Given the description of an element on the screen output the (x, y) to click on. 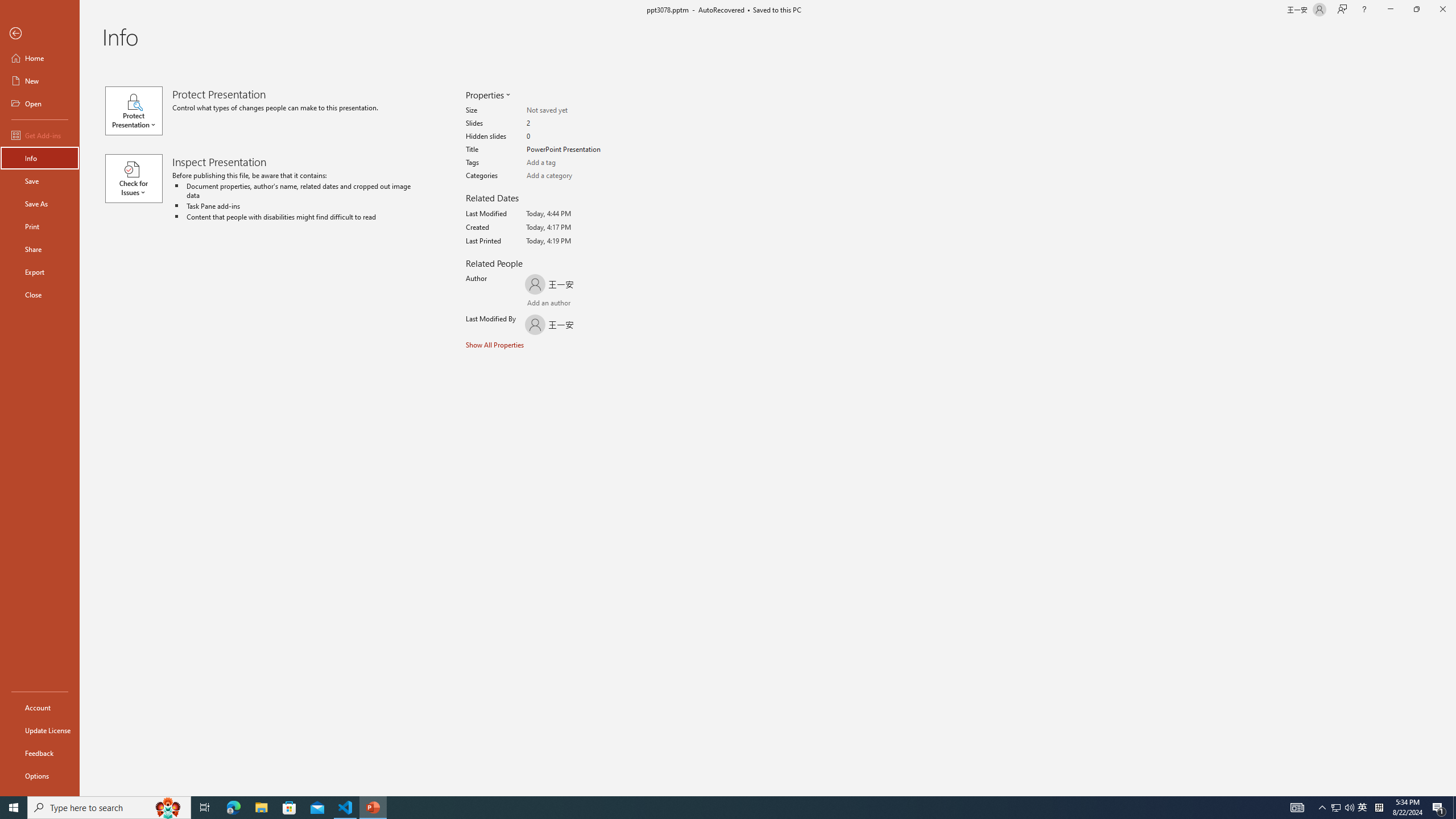
Page 1 content (719, 416)
